Given the description of an element on the screen output the (x, y) to click on. 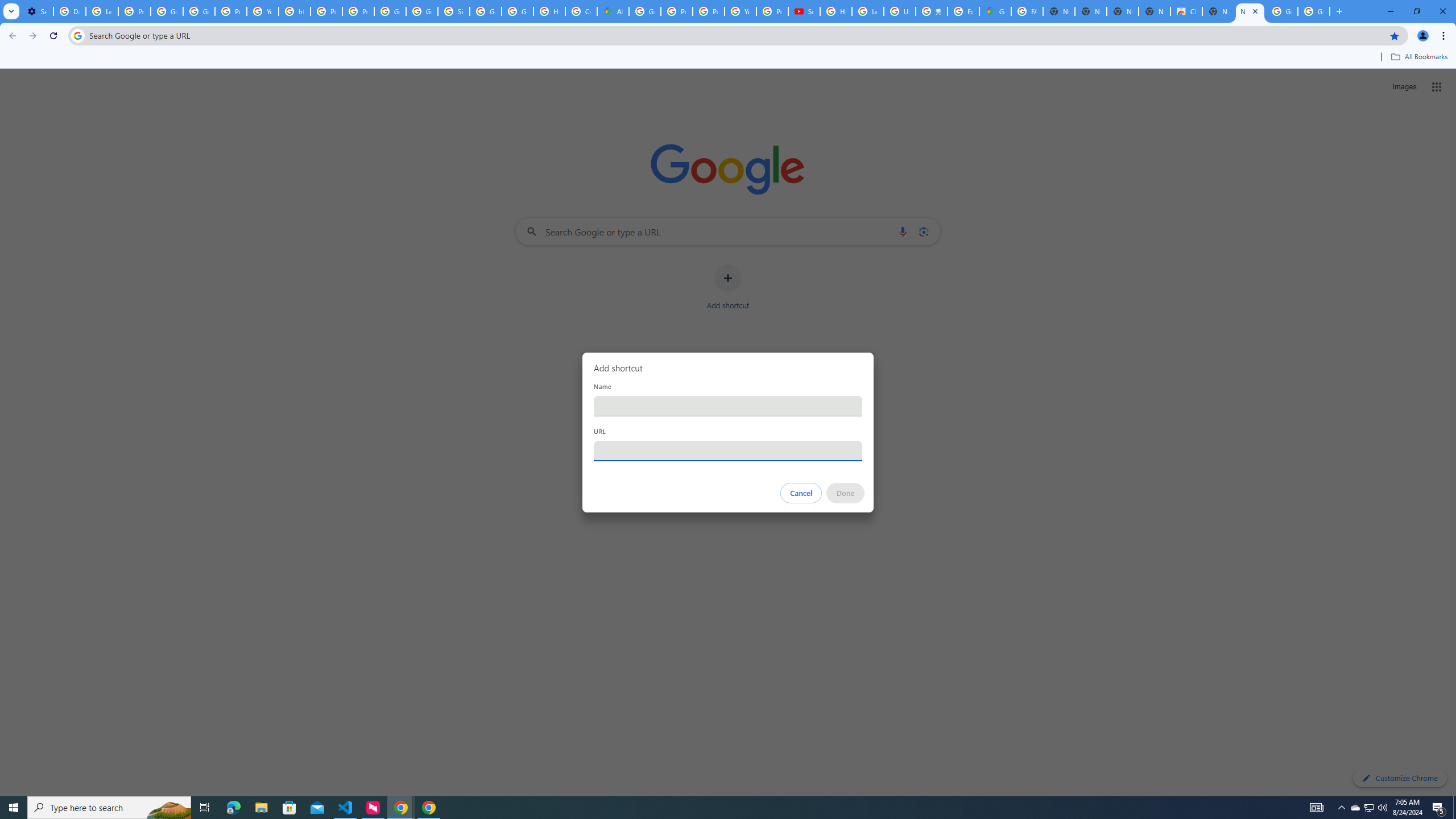
Google Images (1313, 11)
Delete photos & videos - Computer - Google Photos Help (69, 11)
Google Images (1281, 11)
https://scholar.google.com/ (294, 11)
Cancel (801, 493)
Bookmarks (728, 58)
